Given the description of an element on the screen output the (x, y) to click on. 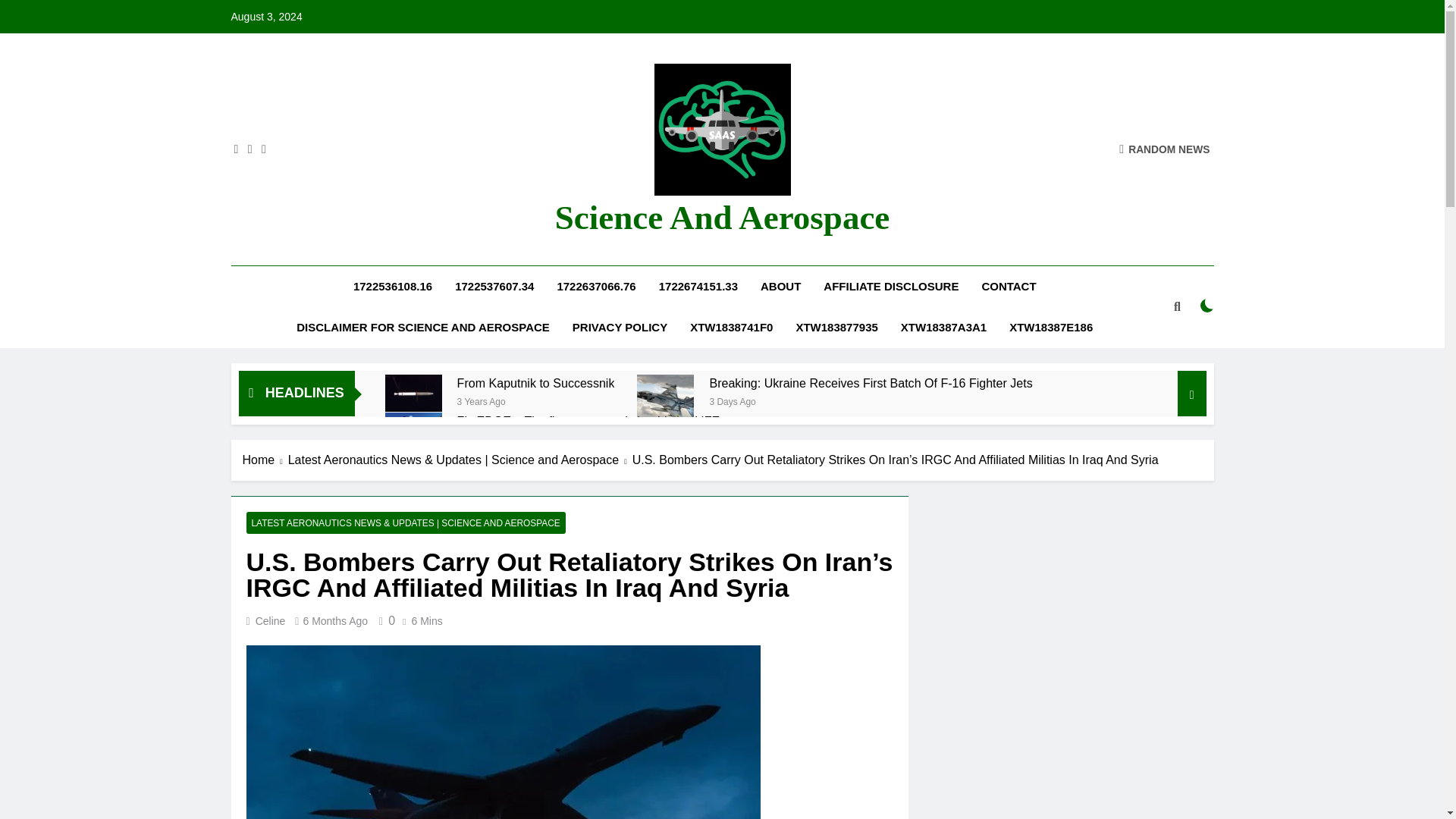
Science And Aerospace (721, 217)
AFFILIATE DISCLOSURE (890, 286)
1722536108.16 (393, 286)
RANDOM NEWS (1164, 148)
ABOUT (780, 286)
From Kaputnik to Successnik (413, 393)
XTW183877935 (836, 327)
on (1206, 305)
XTW18387A3A1 (943, 327)
DISCLAIMER FOR SCIENCE AND AEROSPACE (422, 327)
From Kaputnik to Successnik (535, 382)
XTW18387E186 (1050, 327)
1722674151.33 (698, 286)
Breaking: Ukraine Receives First Batch Of F-16 Fighter Jets (870, 382)
XTW1838741F0 (731, 327)
